Given the description of an element on the screen output the (x, y) to click on. 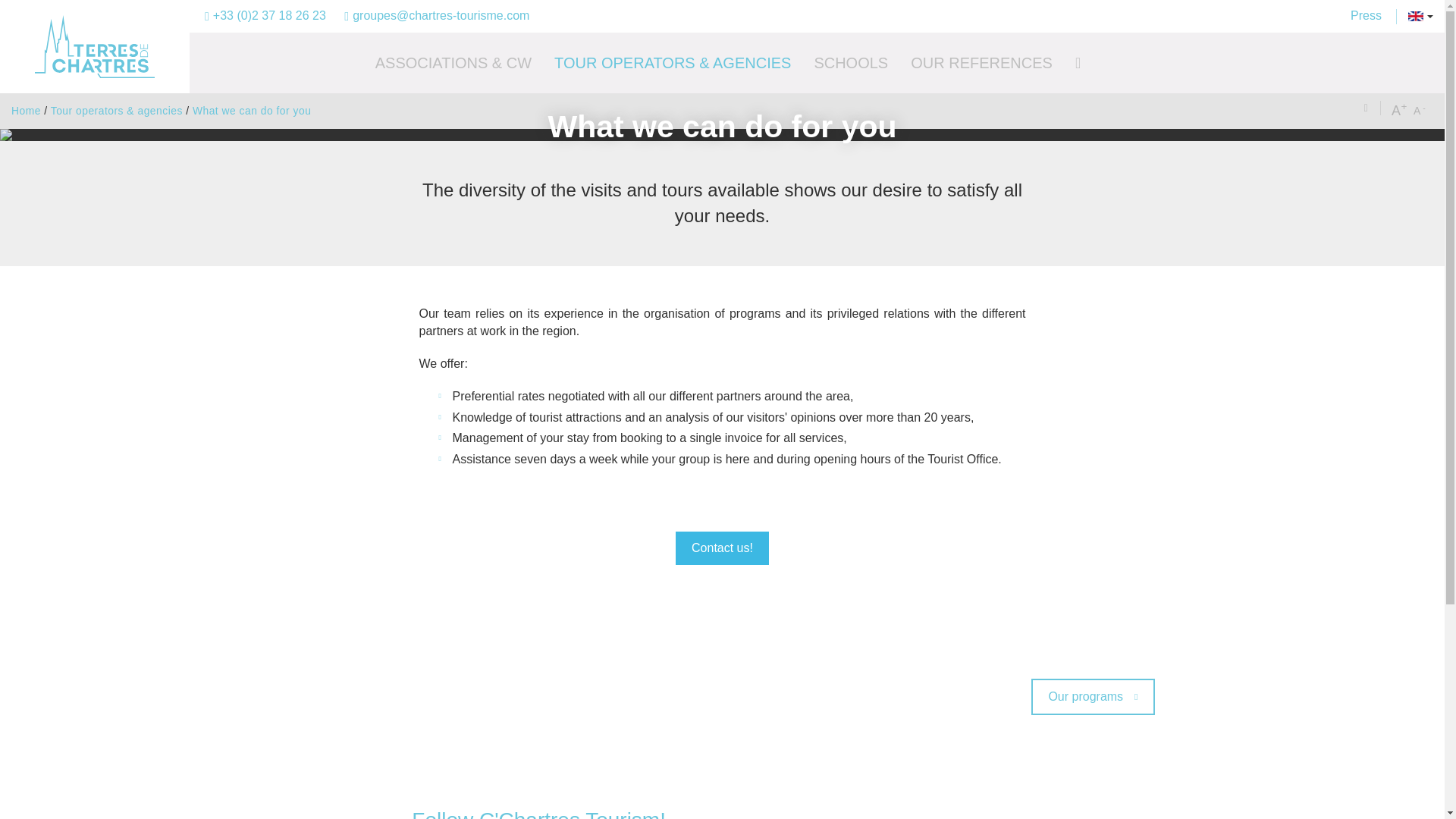
Home (25, 110)
OK (882, 229)
-A (1420, 110)
What we can do for you (251, 110)
Press (1365, 16)
OUR REFERENCES (981, 62)
SCHOOLS (850, 62)
